Given the description of an element on the screen output the (x, y) to click on. 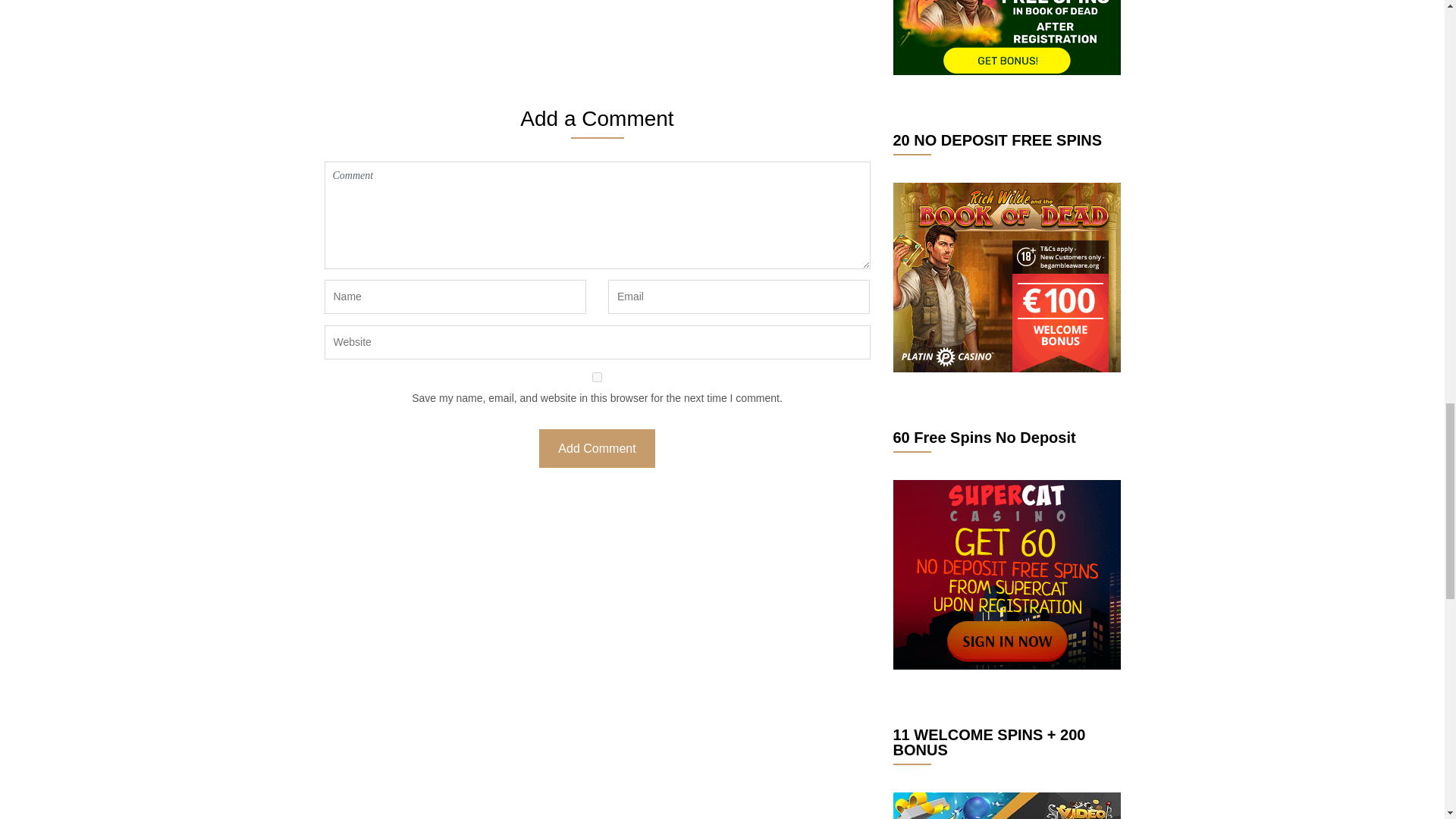
yes (597, 377)
Add Comment (595, 448)
Add Comment (595, 448)
